Given the description of an element on the screen output the (x, y) to click on. 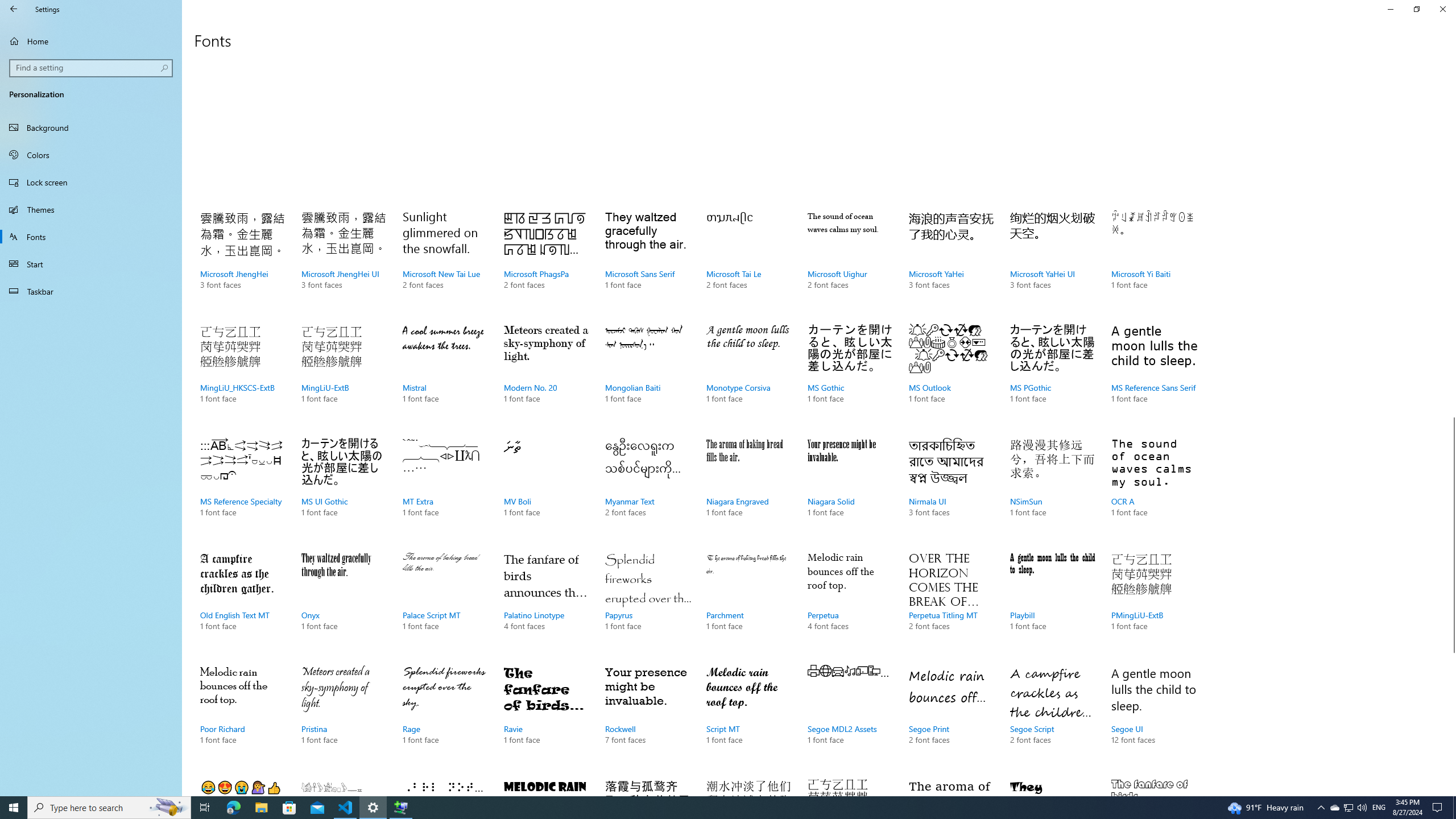
NSimSun, 1 font face (1052, 489)
Microsoft JhengHei UI, 3 font faces (343, 261)
Myanmar Text, 2 font faces (647, 489)
Niagara Engraved, 1 font face (748, 489)
Microsoft New Tai Lue, 2 font faces (445, 261)
Microsoft JhengHei, 3 font faces (243, 261)
MS Reference Sans Serif, 1 font face (1153, 375)
Parchment, 1 font face (748, 603)
MS UI Gothic, 1 font face (343, 489)
Pristina, 1 font face (343, 716)
